Given the description of an element on the screen output the (x, y) to click on. 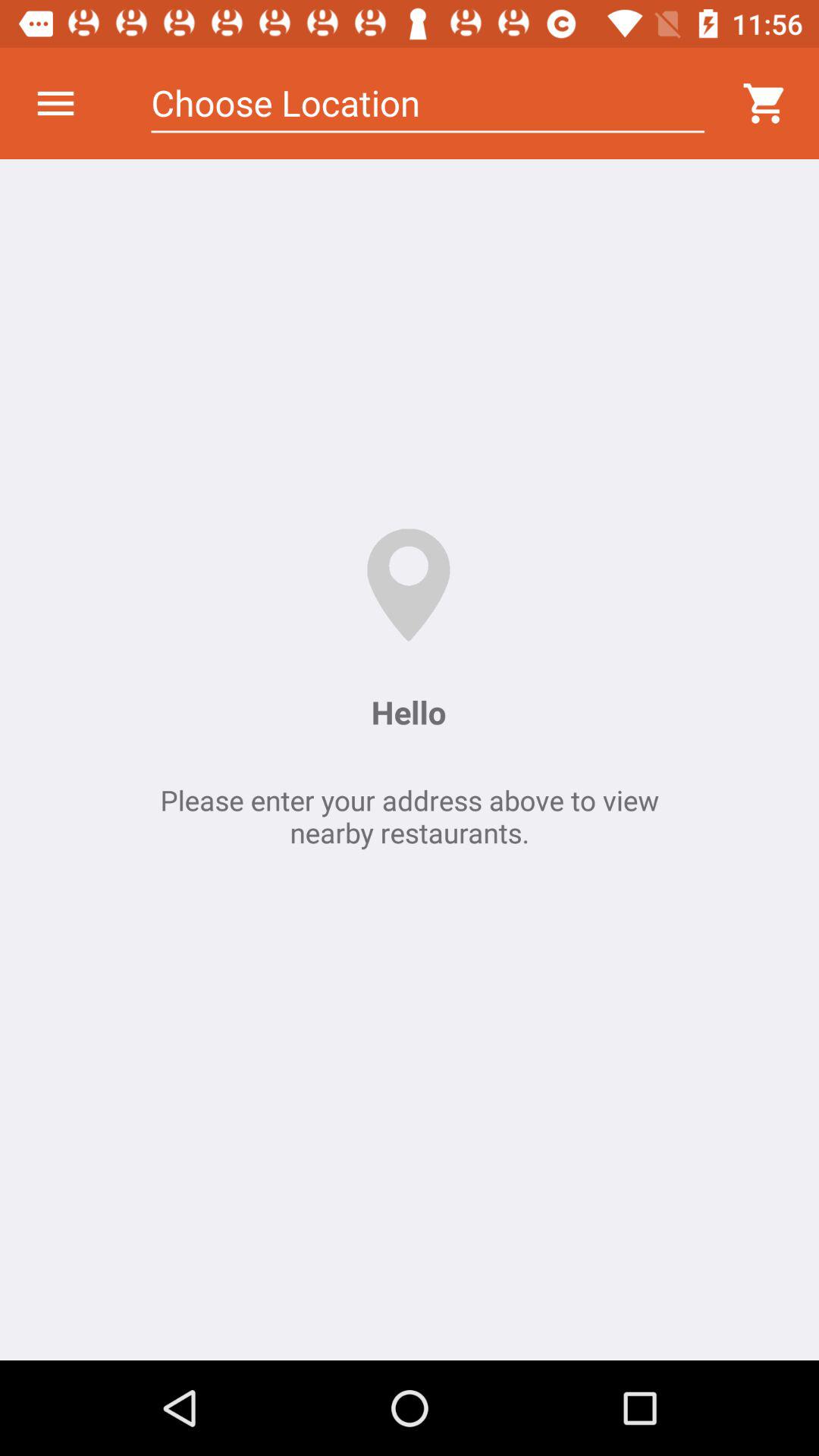
click icon at the top left corner (55, 103)
